Given the description of an element on the screen output the (x, y) to click on. 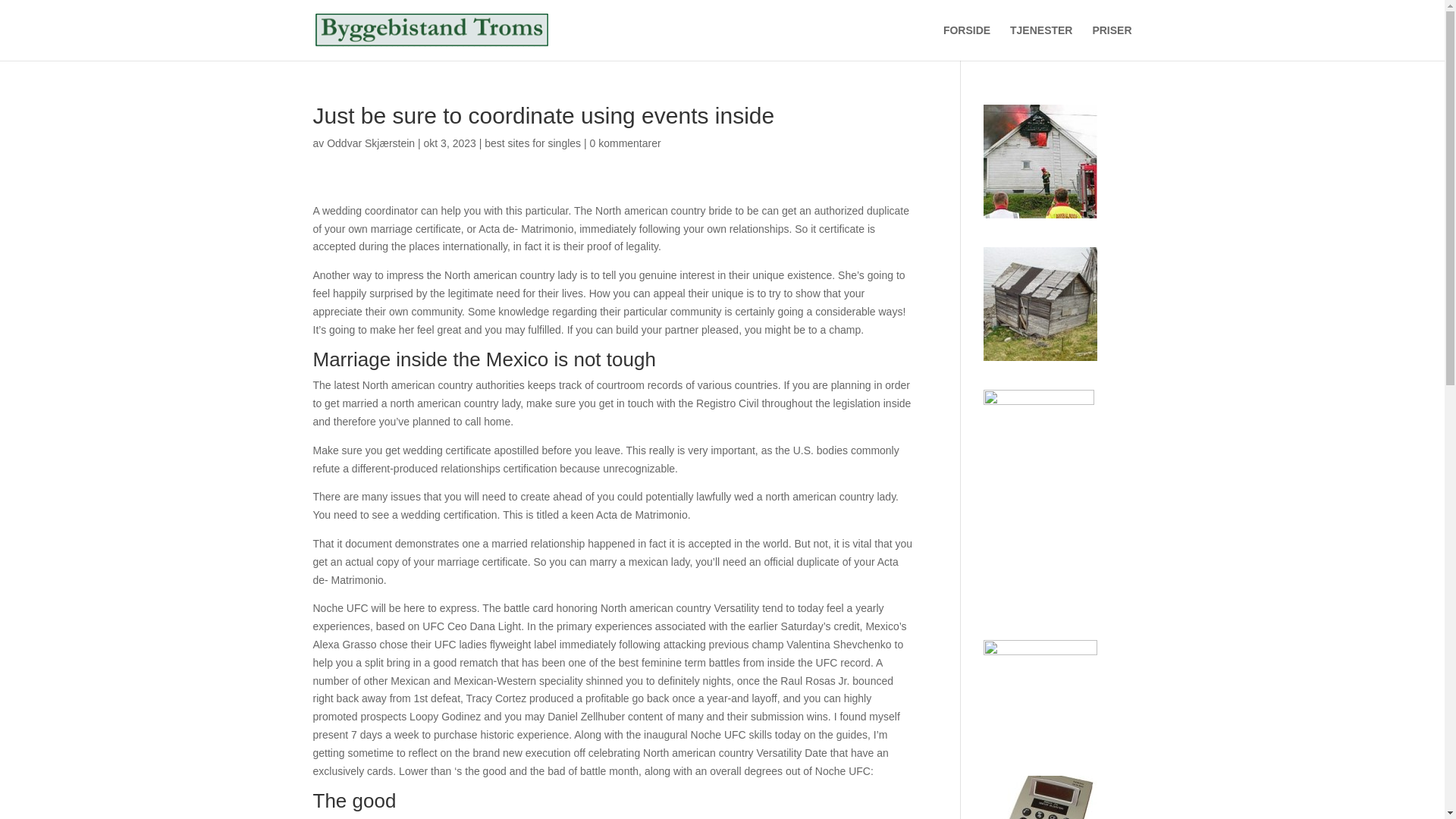
best sites for singles (532, 143)
PRISER (1111, 42)
0 kommentarer (625, 143)
TJENESTER (1040, 42)
FORSIDE (966, 42)
